Given the description of an element on the screen output the (x, y) to click on. 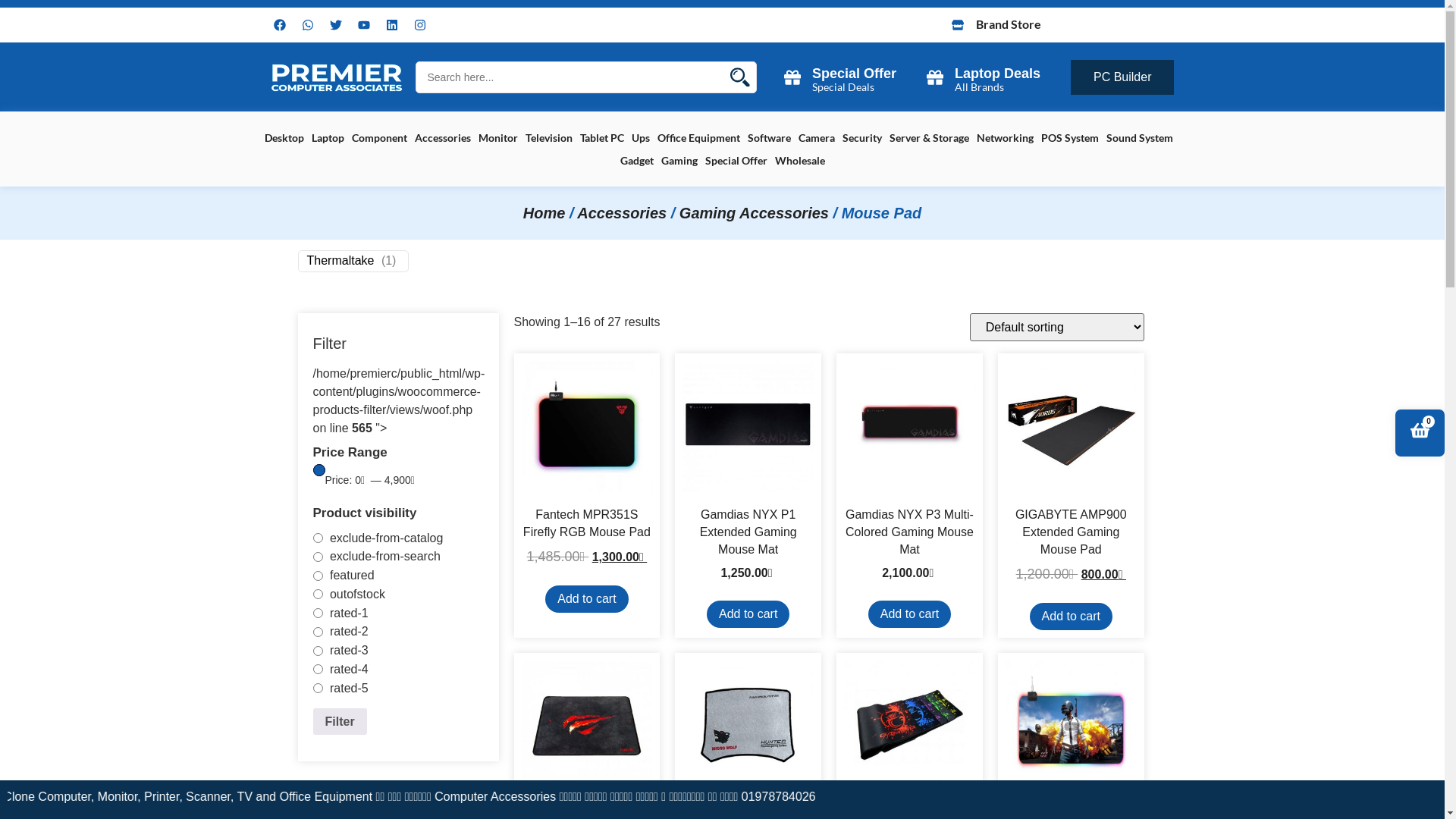
Laptop Element type: text (326, 137)
Home Element type: text (544, 212)
0 Element type: text (1419, 429)
Add to cart Element type: text (586, 598)
PC Builder Element type: text (1121, 76)
Ups Element type: text (639, 137)
Gaming Element type: text (679, 160)
Add to cart Element type: text (747, 613)
Office Equipment Element type: text (697, 137)
Wholesale Element type: text (800, 160)
Brand Store Element type: text (1007, 23)
Laptop Deals Element type: text (997, 73)
Networking Element type: text (1004, 137)
Accessories Element type: text (442, 137)
POS System Element type: text (1069, 137)
Desktop Element type: text (283, 137)
Special Offer Element type: text (854, 73)
Component Element type: text (379, 137)
Camera Element type: text (815, 137)
Gadget Element type: text (636, 160)
Gaming Accessories Element type: text (753, 212)
Thermaltake Element type: text (339, 261)
Software Element type: text (768, 137)
Add to cart Element type: text (1070, 616)
Tablet PC Element type: text (601, 137)
Sound System Element type: text (1138, 137)
Monitor Element type: text (497, 137)
Server & Storage Element type: text (928, 137)
Filter Element type: text (339, 721)
Television Element type: text (547, 137)
Special Offer Element type: text (736, 160)
Accessories Element type: text (621, 212)
Security Element type: text (861, 137)
Add to cart Element type: text (909, 613)
